Given the description of an element on the screen output the (x, y) to click on. 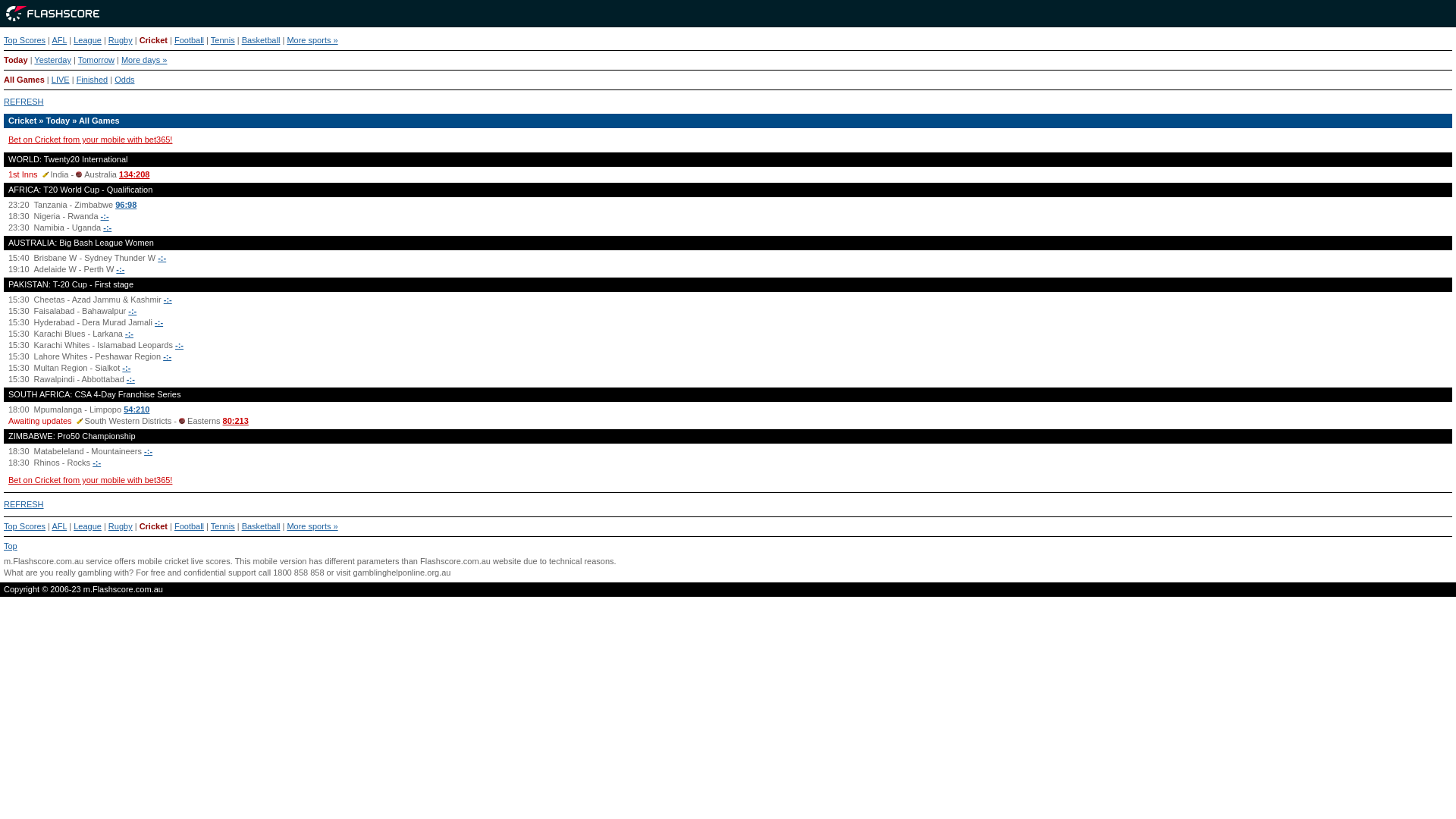
-:- Element type: text (120, 268)
AFL Element type: text (58, 525)
LIVE Element type: text (60, 79)
REFRESH Element type: text (23, 101)
54:210 Element type: text (136, 409)
Bet on Cricket from your mobile with bet365! Element type: text (90, 139)
Odds Element type: text (124, 79)
Bet on Cricket from your mobile with bet365! Element type: text (90, 479)
Tennis Element type: text (222, 39)
League Element type: text (87, 39)
League Element type: text (87, 525)
-:- Element type: text (104, 215)
Top Scores Element type: text (24, 39)
Top Scores Element type: text (24, 525)
-:- Element type: text (158, 321)
Finished Element type: text (92, 79)
Football Element type: text (188, 525)
Football Element type: text (188, 39)
Basketball Element type: text (260, 39)
Tomorrow Element type: text (96, 59)
-:- Element type: text (167, 355)
-:- Element type: text (107, 227)
Cricket Element type: text (153, 39)
-:- Element type: text (130, 378)
AFL Element type: text (58, 39)
Rugby Element type: text (120, 525)
Today Element type: text (15, 59)
Cricket Element type: text (153, 525)
-:- Element type: text (132, 310)
Rugby Element type: text (120, 39)
Yesterday Element type: text (52, 59)
-:- Element type: text (161, 257)
Basketball Element type: text (260, 525)
REFRESH Element type: text (23, 503)
gamblinghelponline.org.au Element type: text (401, 572)
-:- Element type: text (179, 344)
Tennis Element type: text (222, 525)
-:- Element type: text (96, 462)
96:98 Element type: text (125, 204)
134:208 Element type: text (134, 173)
-:- Element type: text (129, 333)
-:- Element type: text (167, 299)
All Games Element type: text (23, 79)
Top Element type: text (10, 545)
-:- Element type: text (148, 450)
-:- Element type: text (126, 367)
80:213 Element type: text (235, 420)
